Given the description of an element on the screen output the (x, y) to click on. 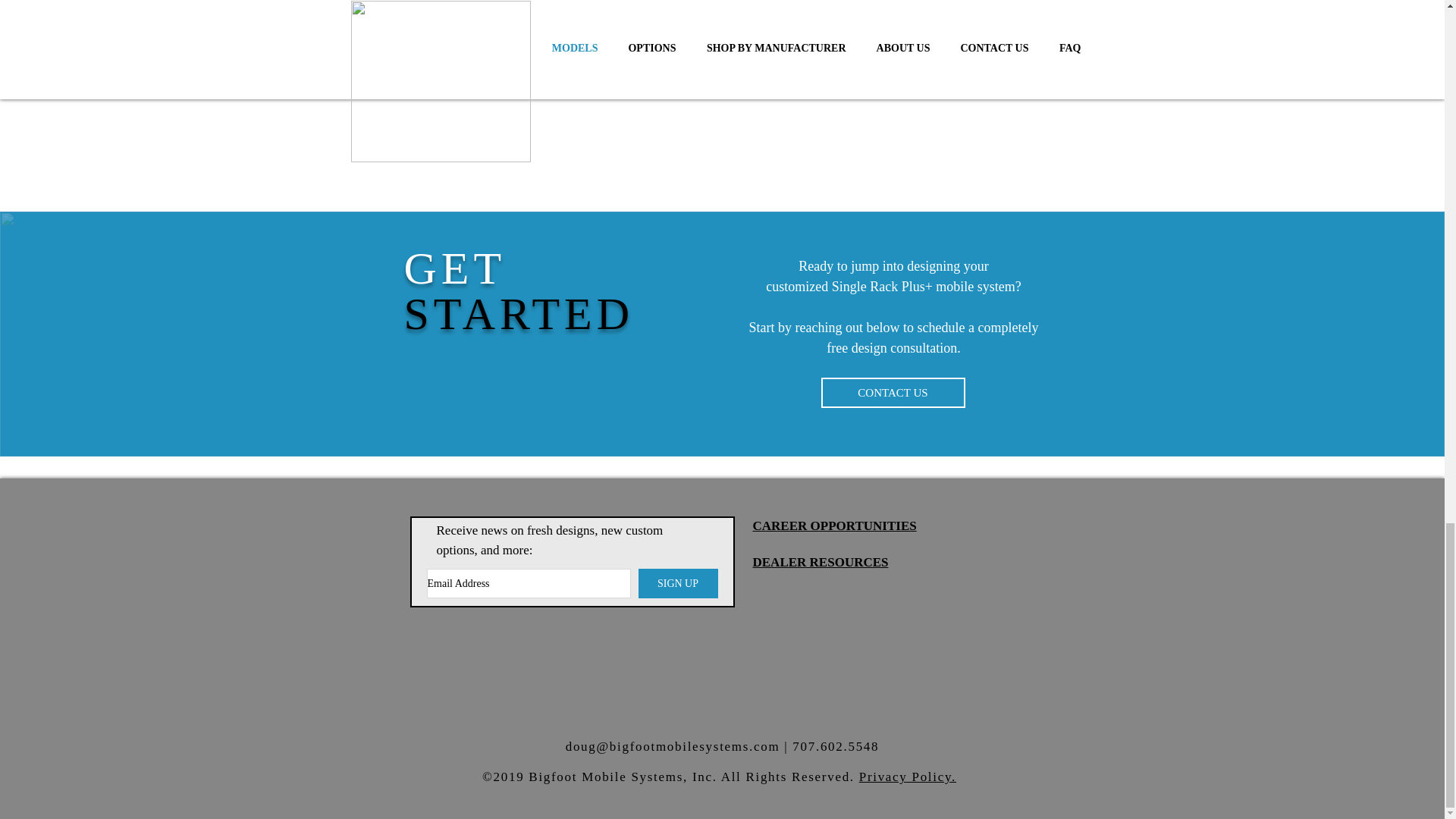
Privacy Policy. (907, 776)
DEALER RESOURCES (820, 561)
CAREER OPPORTUNITIES (833, 525)
SIGN UP (678, 583)
CONTACT US (892, 392)
External YouTube (721, 95)
